Given the description of an element on the screen output the (x, y) to click on. 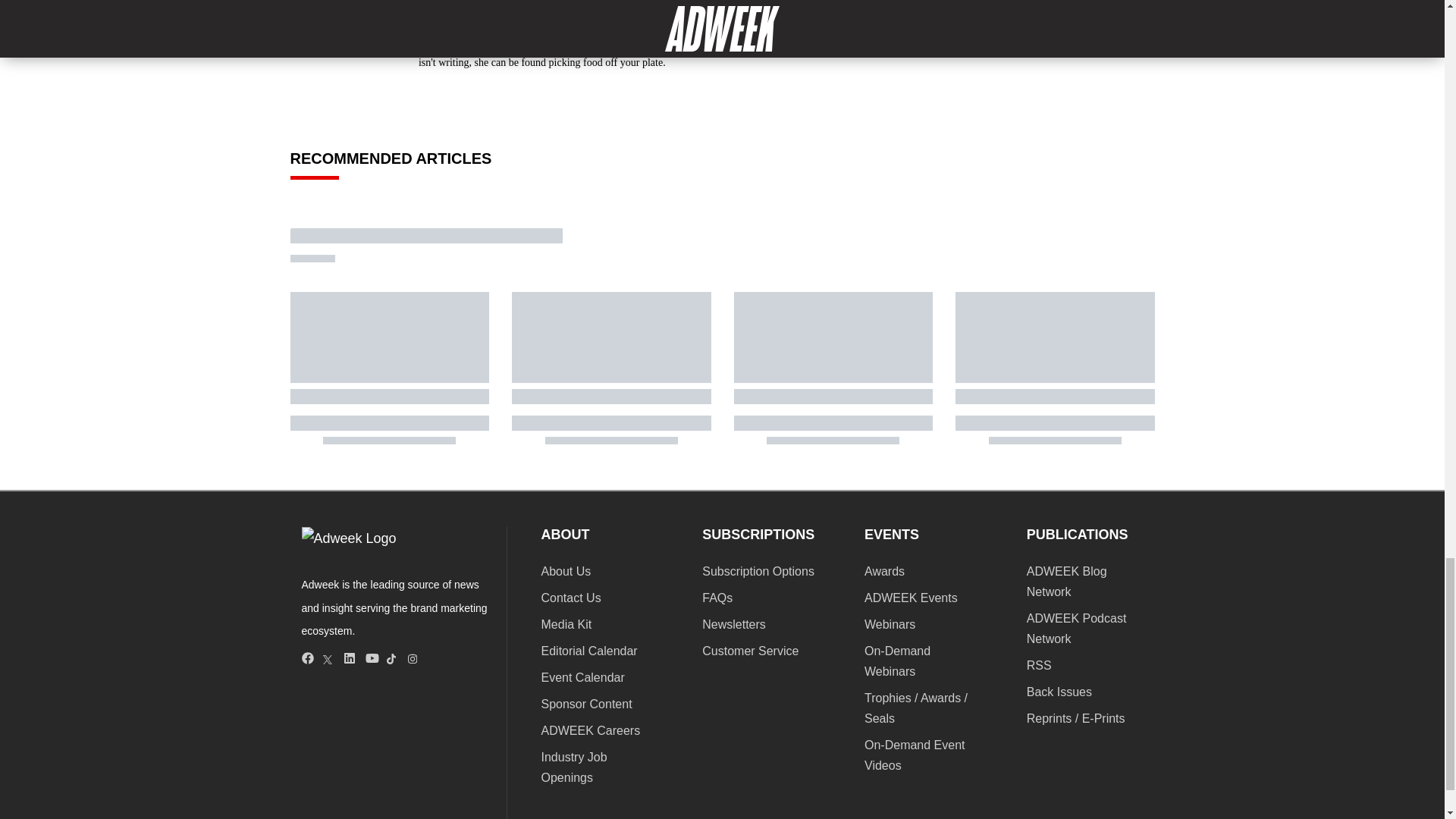
ANGELA NATIVIDAD (499, 1)
